Given the description of an element on the screen output the (x, y) to click on. 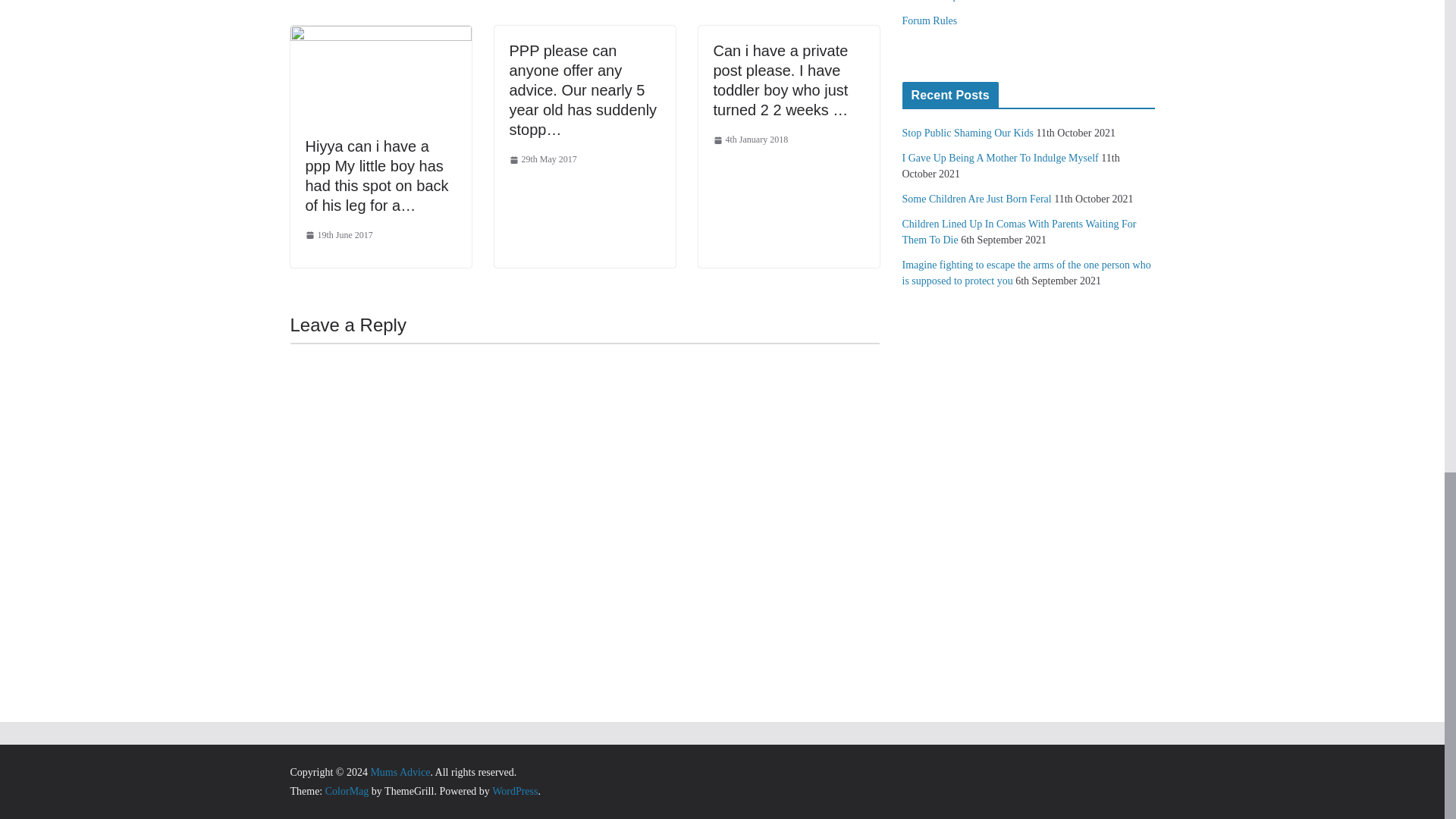
29th May 2017 (542, 159)
19th June 2017 (338, 235)
4th January 2018 (750, 139)
Abusive ex partner (943, 0)
